Given the description of an element on the screen output the (x, y) to click on. 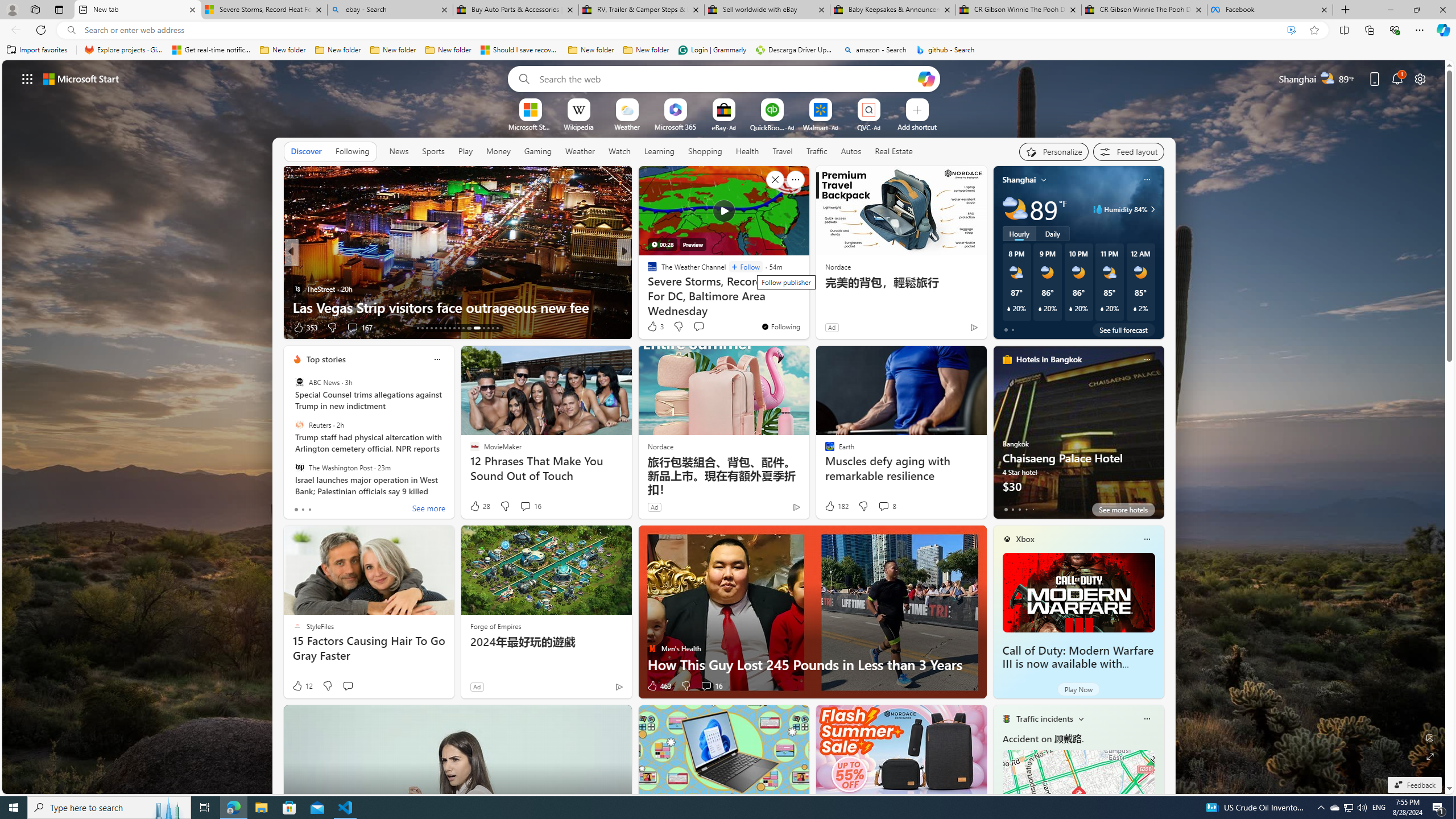
View comments 8 Comment (887, 505)
Play (465, 151)
Descarga Driver Updater (794, 49)
Gaming (537, 151)
AutomationID: tab-29 (497, 328)
More options (1146, 718)
